Given the description of an element on the screen output the (x, y) to click on. 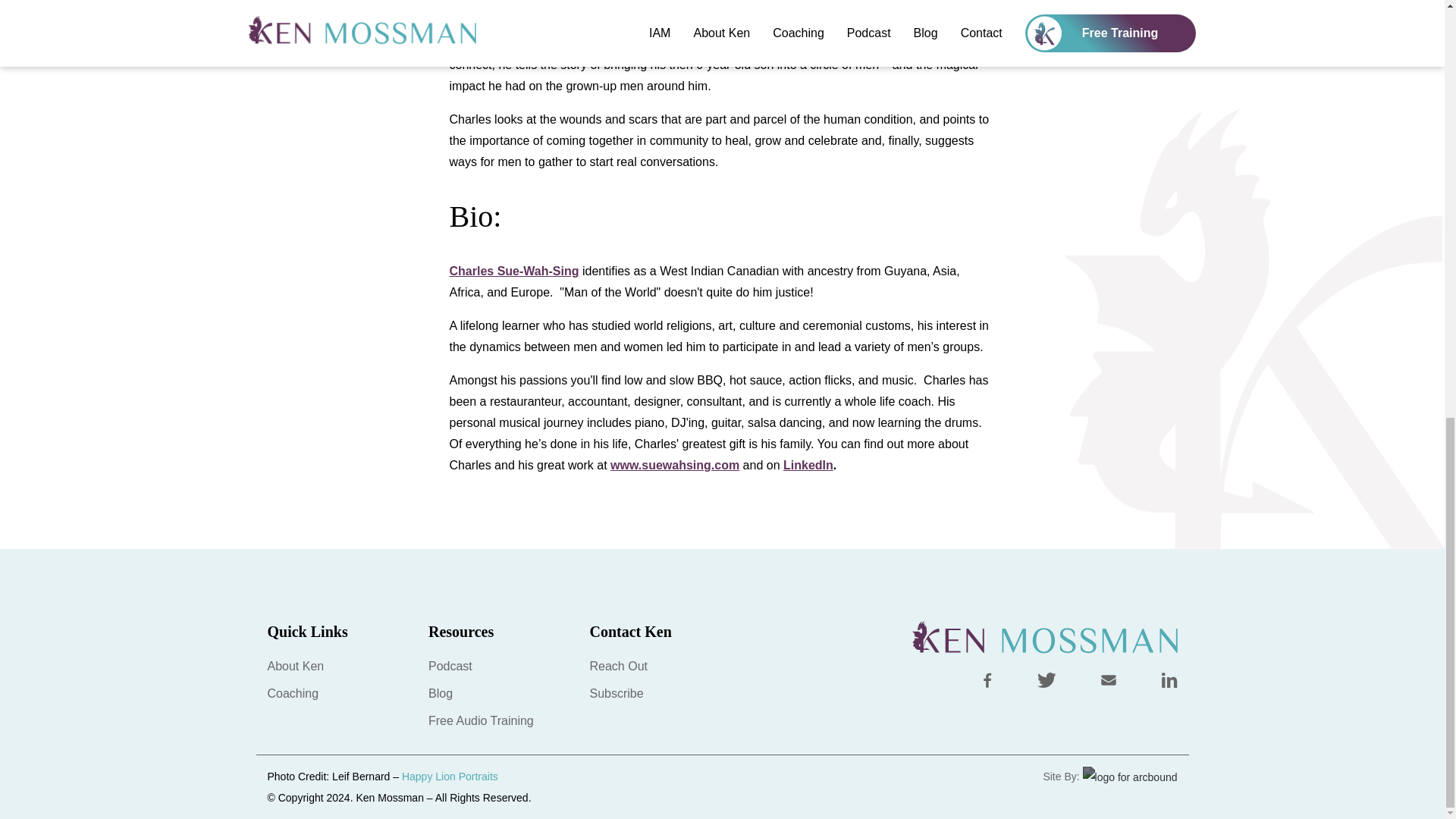
linkedin icon (1168, 679)
Charles Sue-Wah-Sing (513, 270)
Coaching (292, 693)
twitter icon (1045, 679)
Blog (440, 693)
envelope mailto icon (1108, 679)
Site By: (1109, 776)
Happy Lion Portraits (449, 776)
LinkedIn (807, 464)
Reach Out (618, 666)
